Given the description of an element on the screen output the (x, y) to click on. 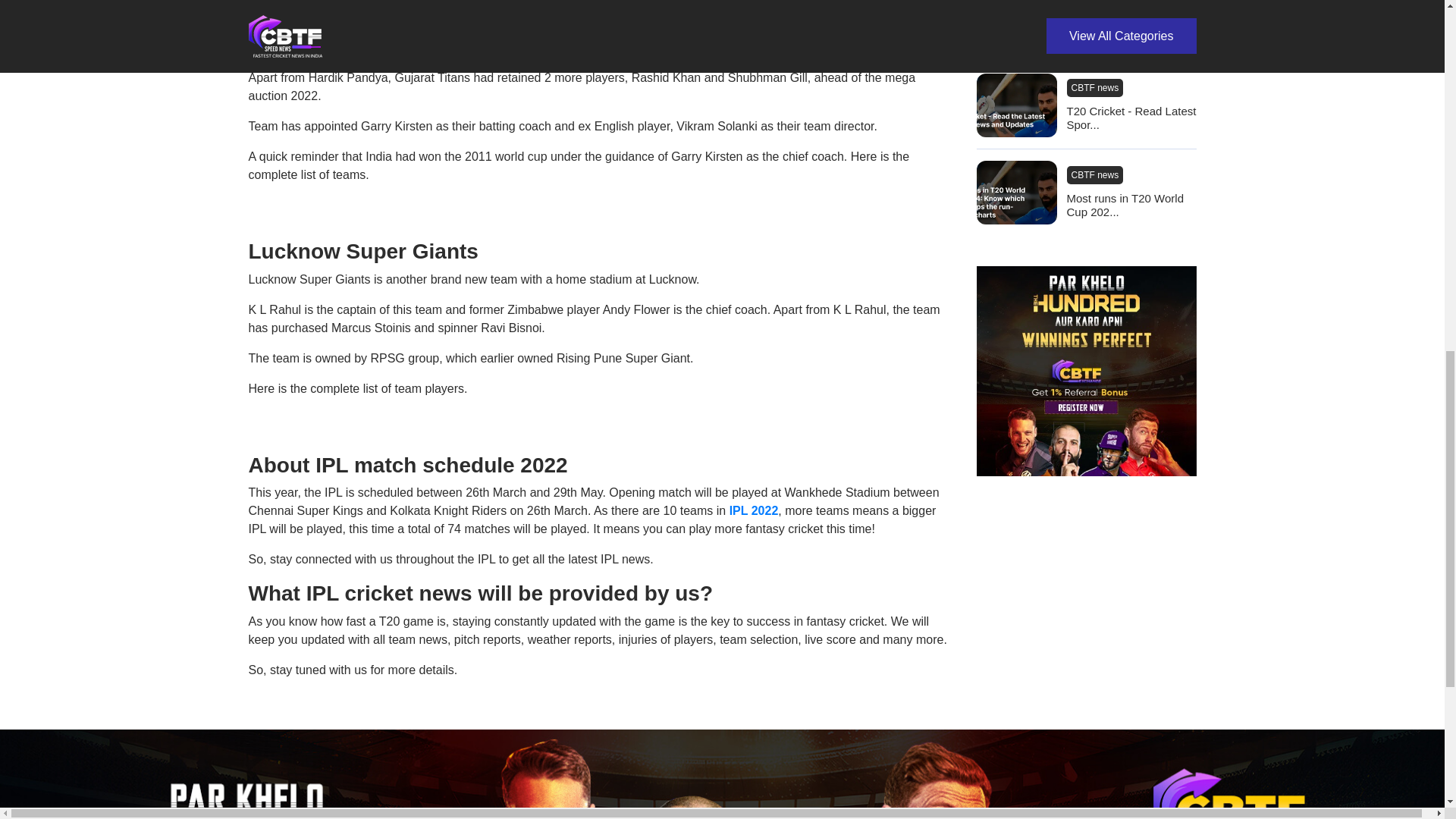
Lanka Premier League, 2024, Ja... (1130, 35)
Lanka Premier League, 2024 (1126, 7)
CBTF news (1093, 175)
CBTF news (1093, 87)
Most runs in T20 World Cup 202... (1130, 205)
T20 Cricket - Read Latest Spor... (1130, 117)
IPL 2022 (753, 510)
